Given the description of an element on the screen output the (x, y) to click on. 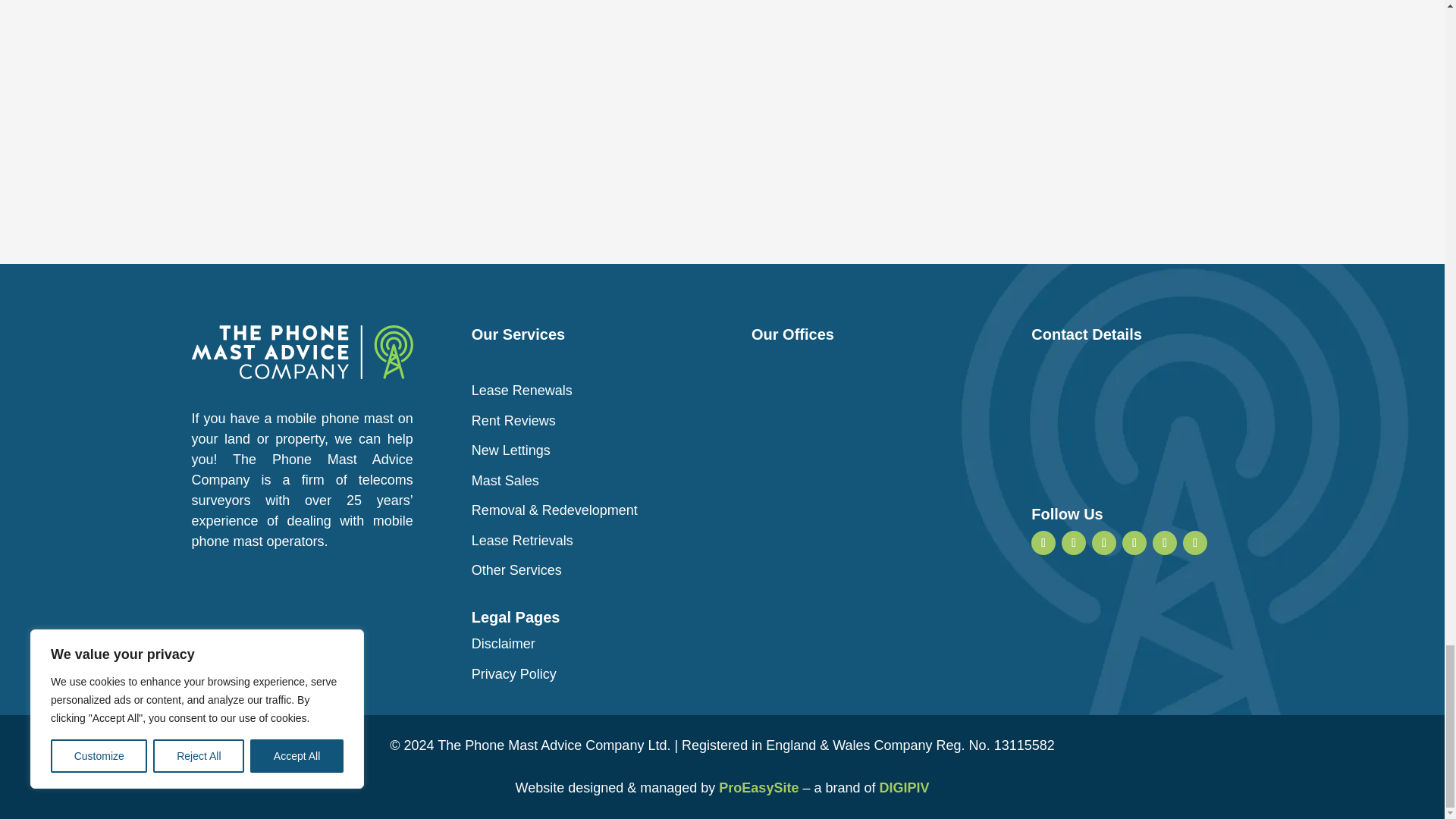
Visit the ProEasySite website (758, 787)
Follow on X (1194, 541)
TPMAC-Logo-White (301, 352)
Follow on Facebook (1073, 541)
Follow on Instagram (1104, 541)
Follow on LinkedIn (1042, 541)
Follow on Youtube (1134, 541)
Follow on TikTok (1164, 541)
